Given the description of an element on the screen output the (x, y) to click on. 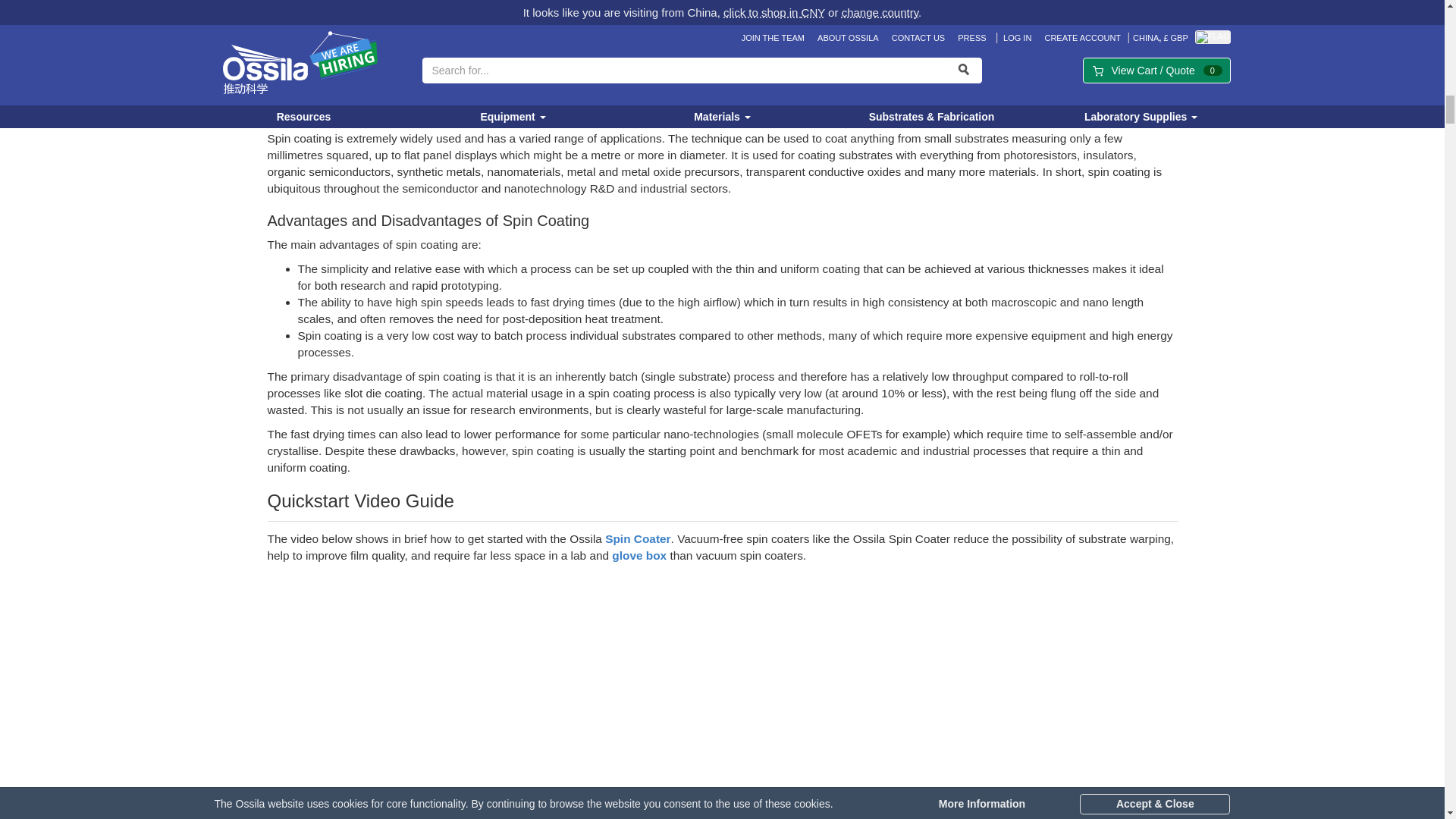
Spin Coating Interference Effects (721, 29)
The Ossila Glove Box (638, 554)
Ossila Spin Coater (637, 538)
